Given the description of an element on the screen output the (x, y) to click on. 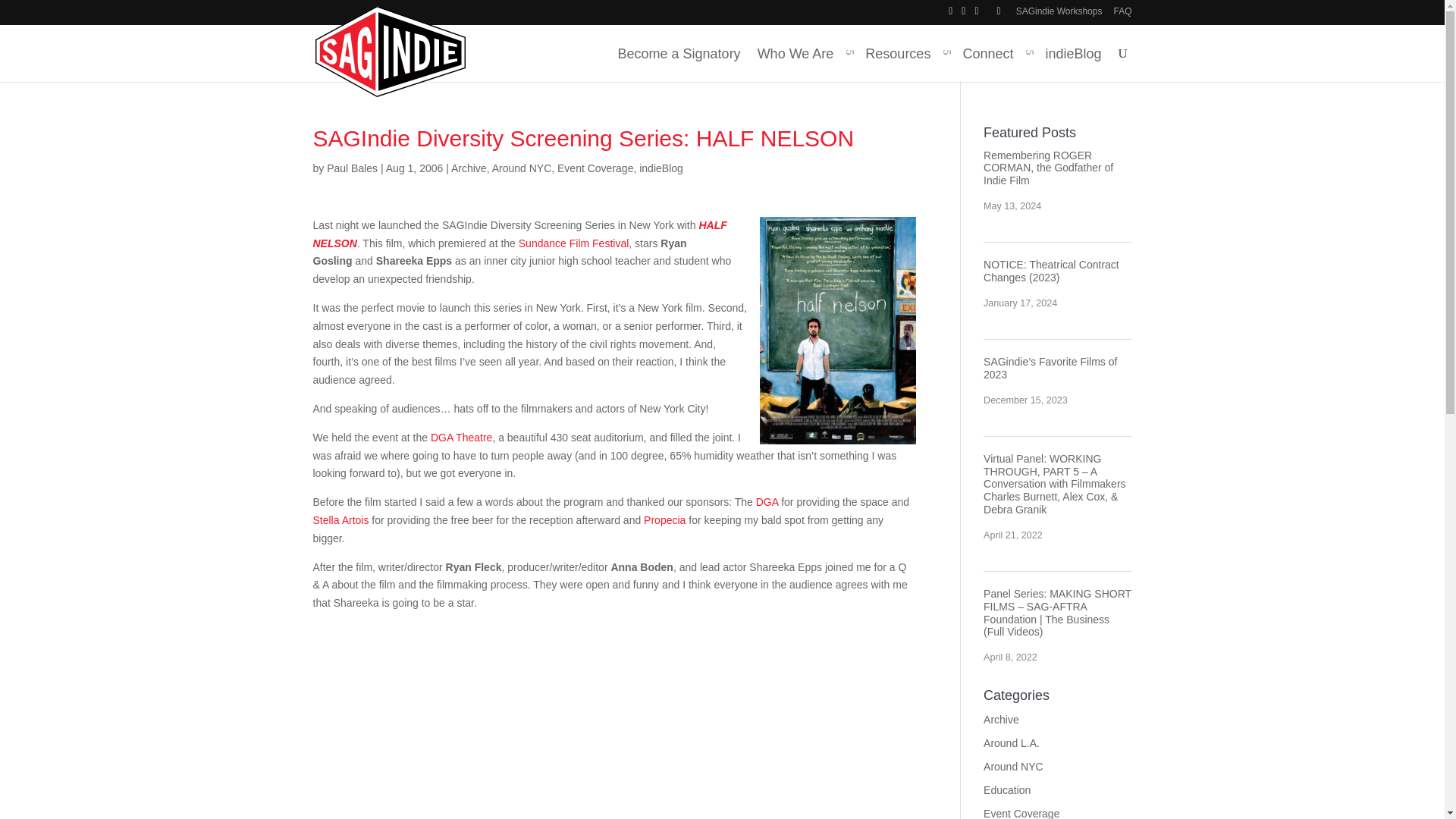
Posts by Paul Bales (351, 168)
SAGindie Workshops (1059, 14)
Resources (904, 66)
FAQ (1122, 14)
Connect (994, 66)
Become a Signatory (679, 66)
indieBlog (1072, 66)
Who We Are (802, 66)
